Given the description of an element on the screen output the (x, y) to click on. 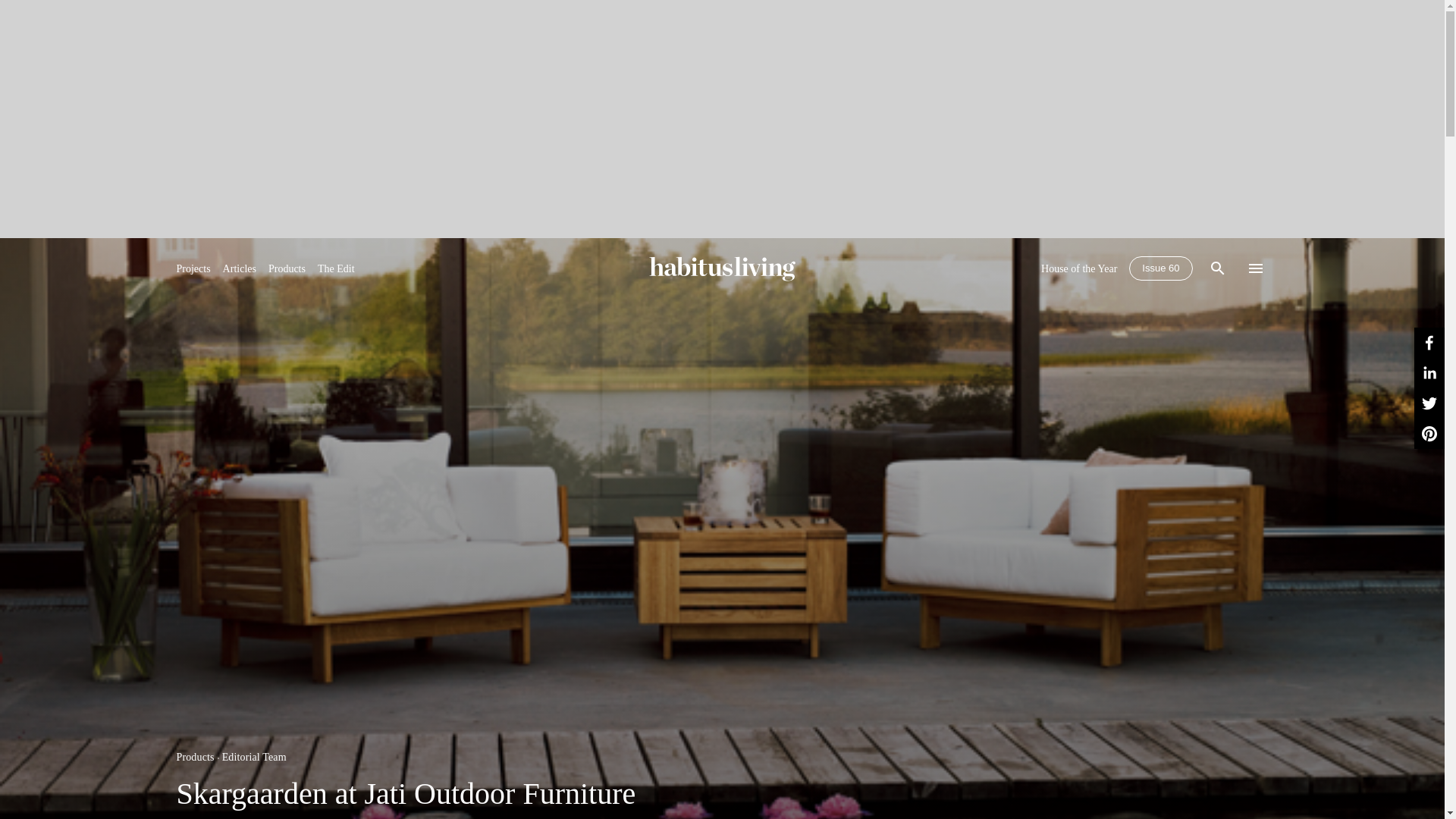
House of the Year (1078, 268)
Projects (192, 268)
Issue 60 (1160, 268)
The Edit (336, 268)
Products (286, 268)
Editorial Team (254, 756)
Skip To Main Content (722, 268)
Products (195, 756)
Articles (239, 268)
